Given the description of an element on the screen output the (x, y) to click on. 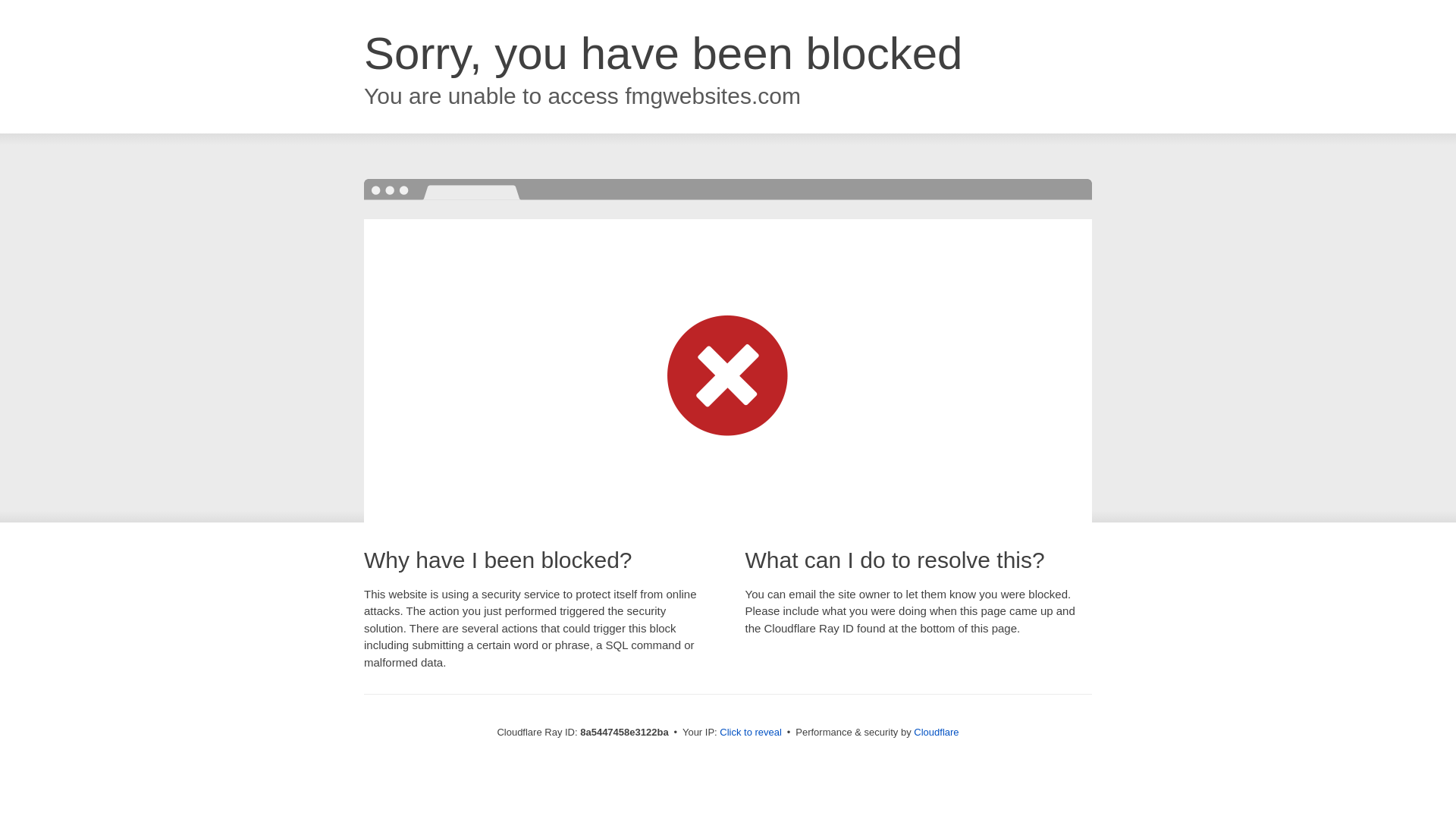
Click to reveal (750, 732)
Cloudflare (936, 731)
